Given the description of an element on the screen output the (x, y) to click on. 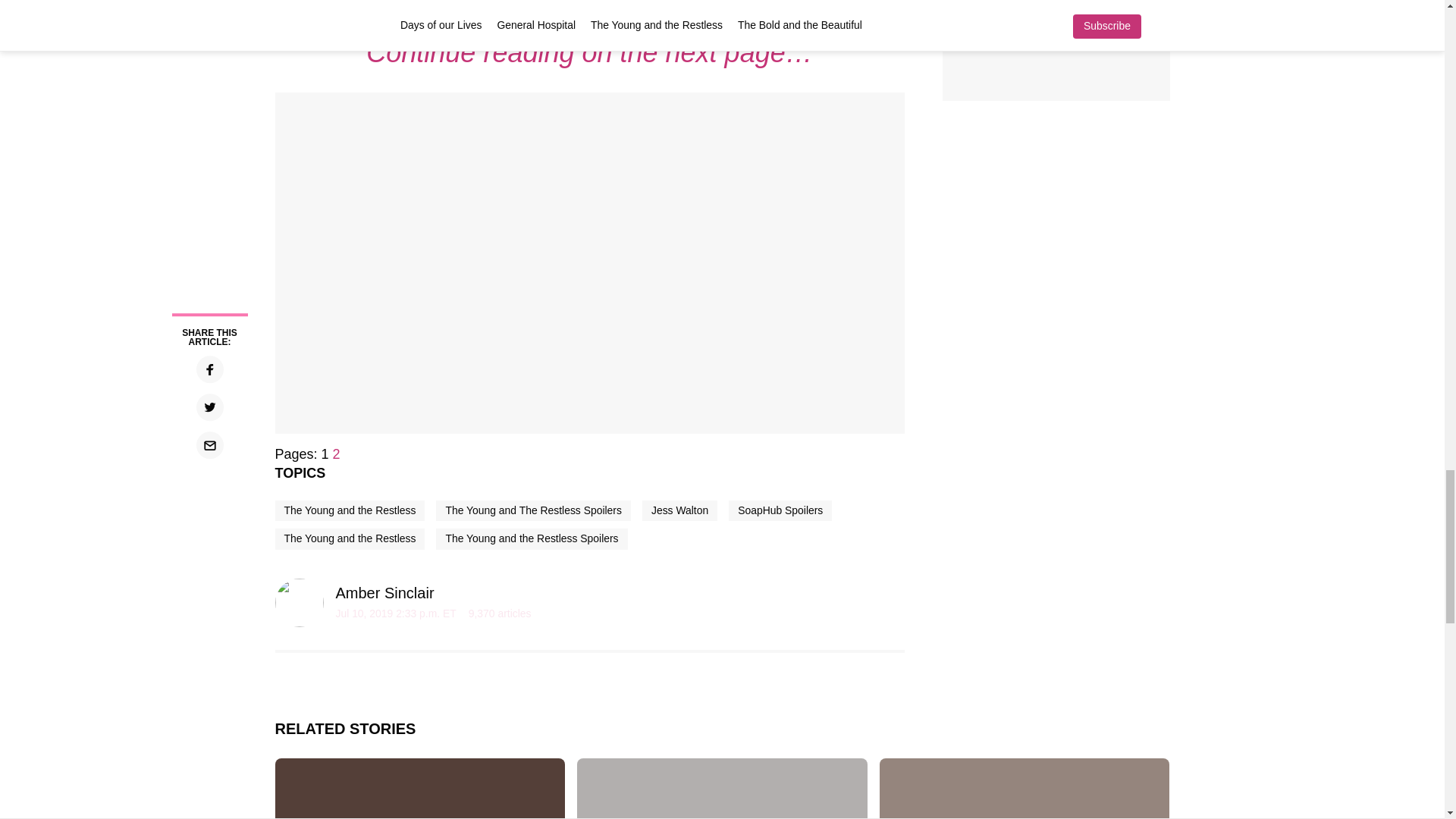
The Young and The Restless Spoilers (532, 510)
Amber Sinclair (383, 592)
Jess Walton (679, 510)
The Young and the Restless (350, 538)
The Young and the Restless Spoilers (531, 538)
SoapHub Spoilers (780, 510)
The Young and the Restless (350, 510)
